Given the description of an element on the screen output the (x, y) to click on. 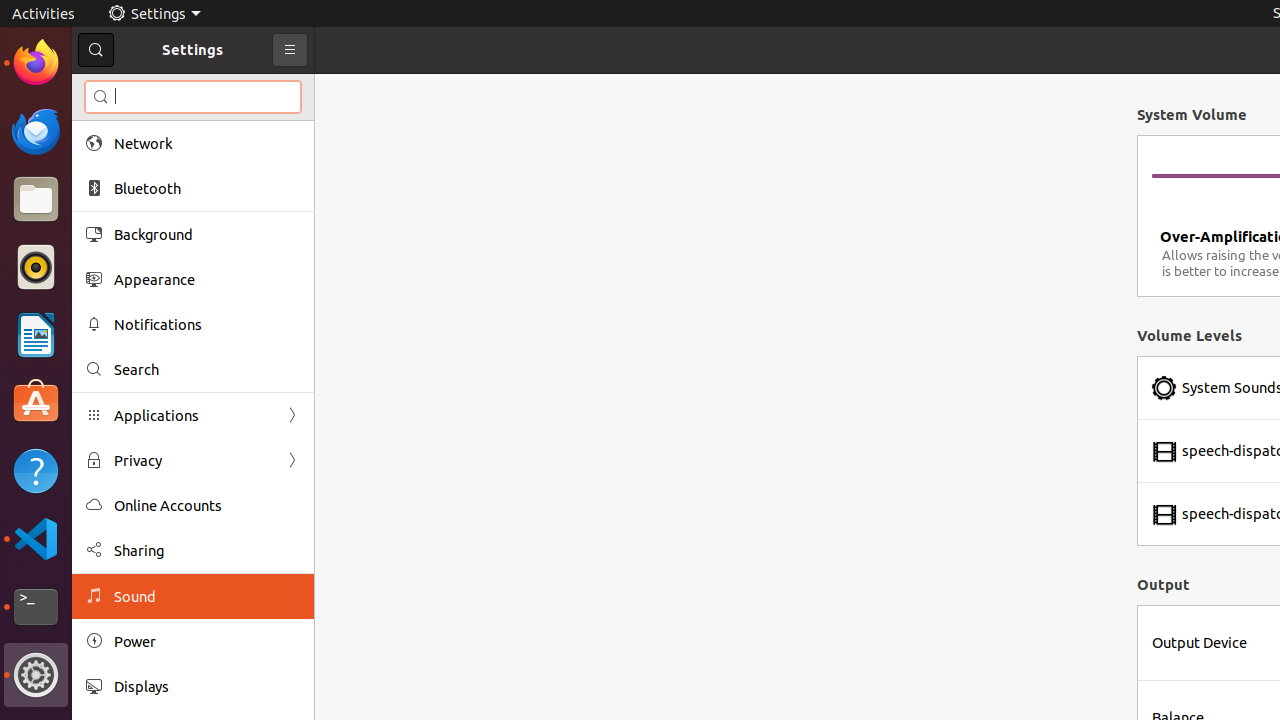
Settings Element type: push-button (36, 675)
Search Element type: label (207, 369)
Applications Element type: label (193, 415)
